Given the description of an element on the screen output the (x, y) to click on. 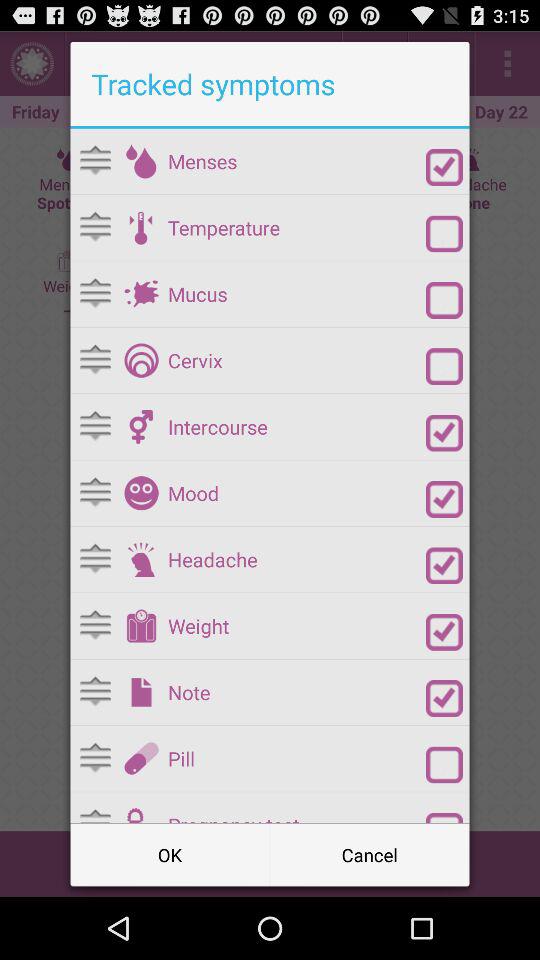
deselect intercourse (444, 432)
